Given the description of an element on the screen output the (x, y) to click on. 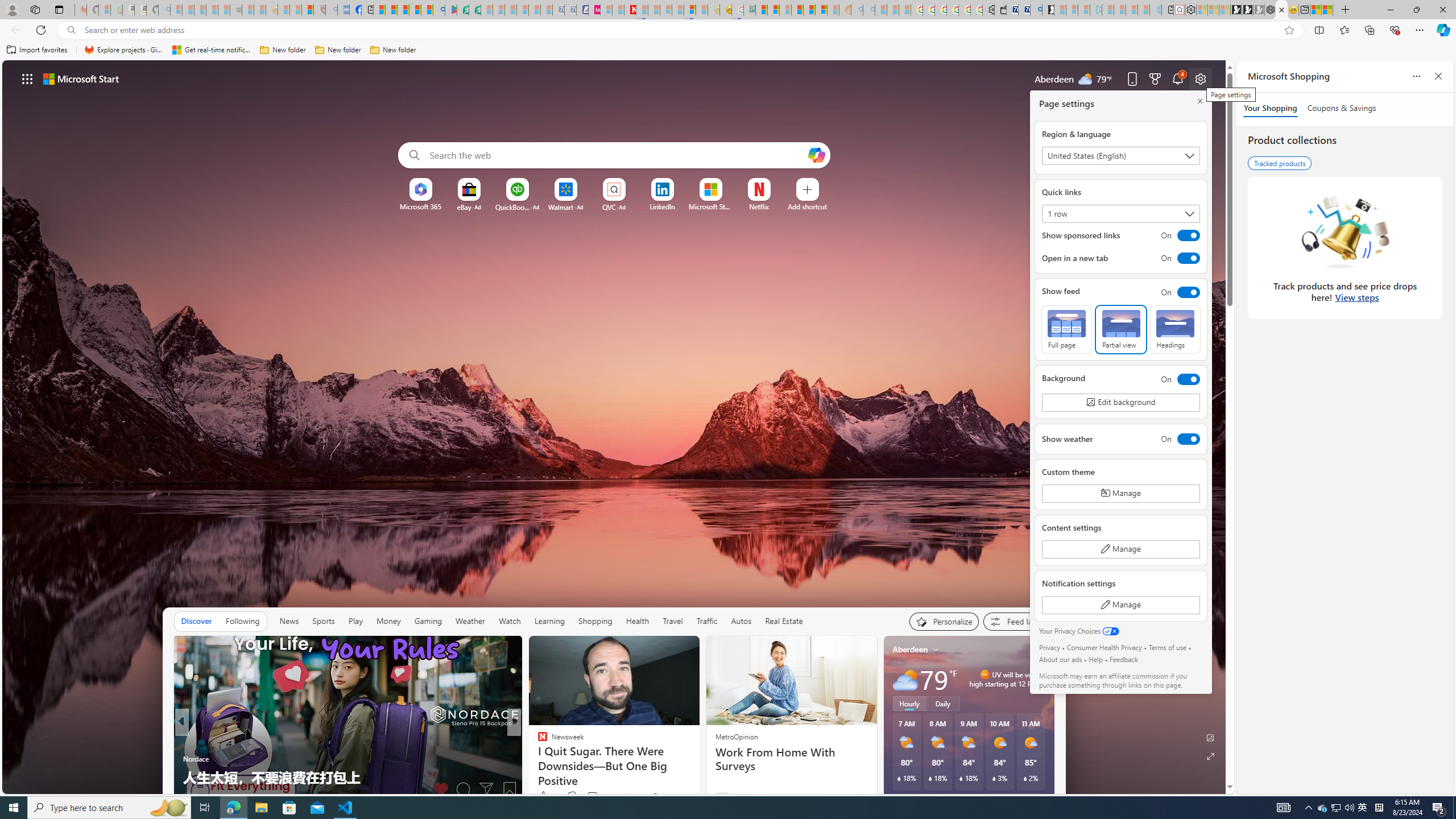
UV will be very high starting at 12 PM (1040, 678)
Class: select-setting-fluent-select  (1120, 213)
My location (936, 649)
AutomationID: backgroundImagePicture (613, 426)
Aberdeen (910, 649)
